Given the description of an element on the screen output the (x, y) to click on. 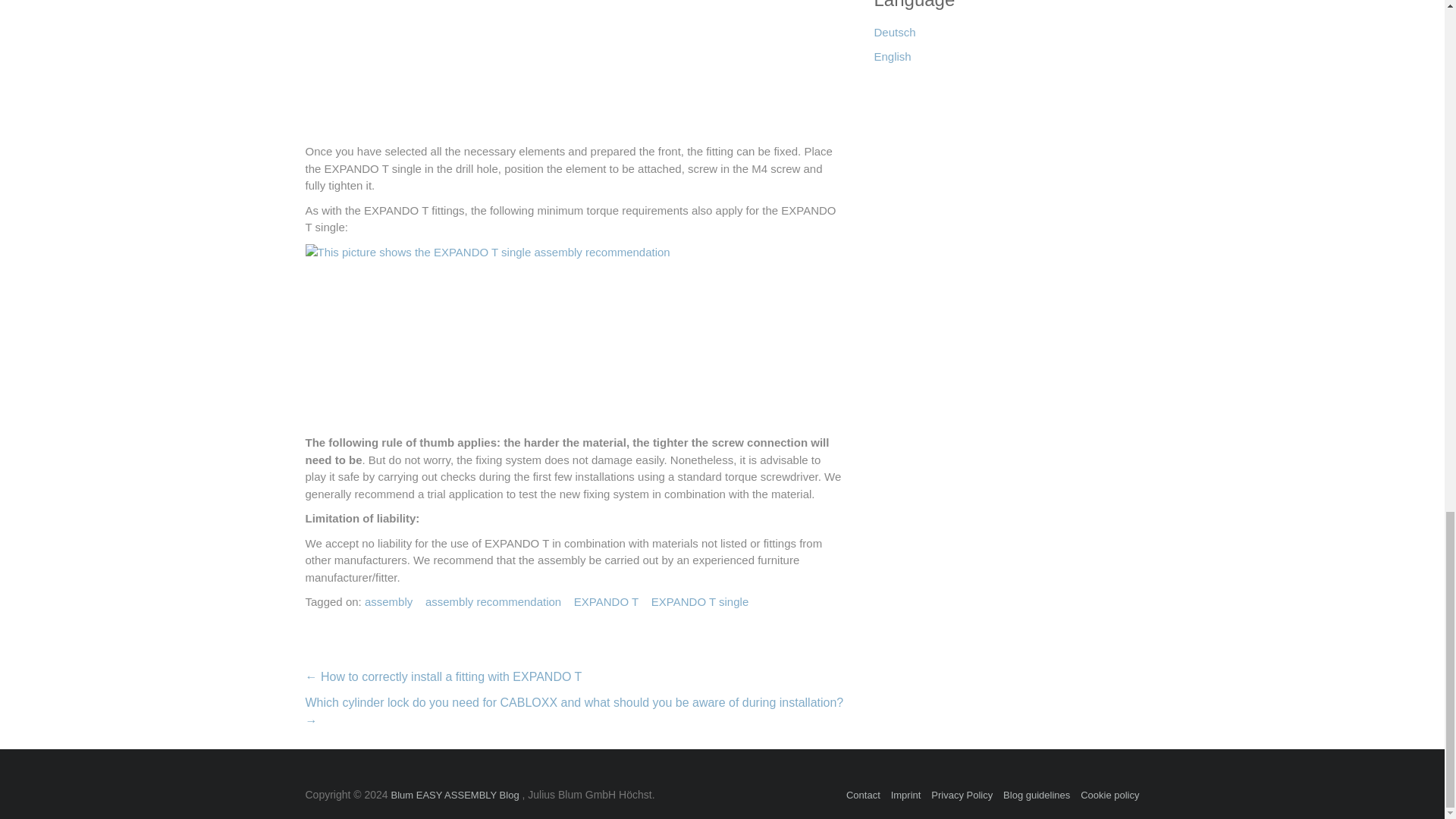
assembly (388, 601)
Blum EASY ASSEMBLY Blog (455, 794)
EXPANDO T single (699, 601)
EXPANDO T (606, 601)
assembly recommendation (492, 601)
